Given the description of an element on the screen output the (x, y) to click on. 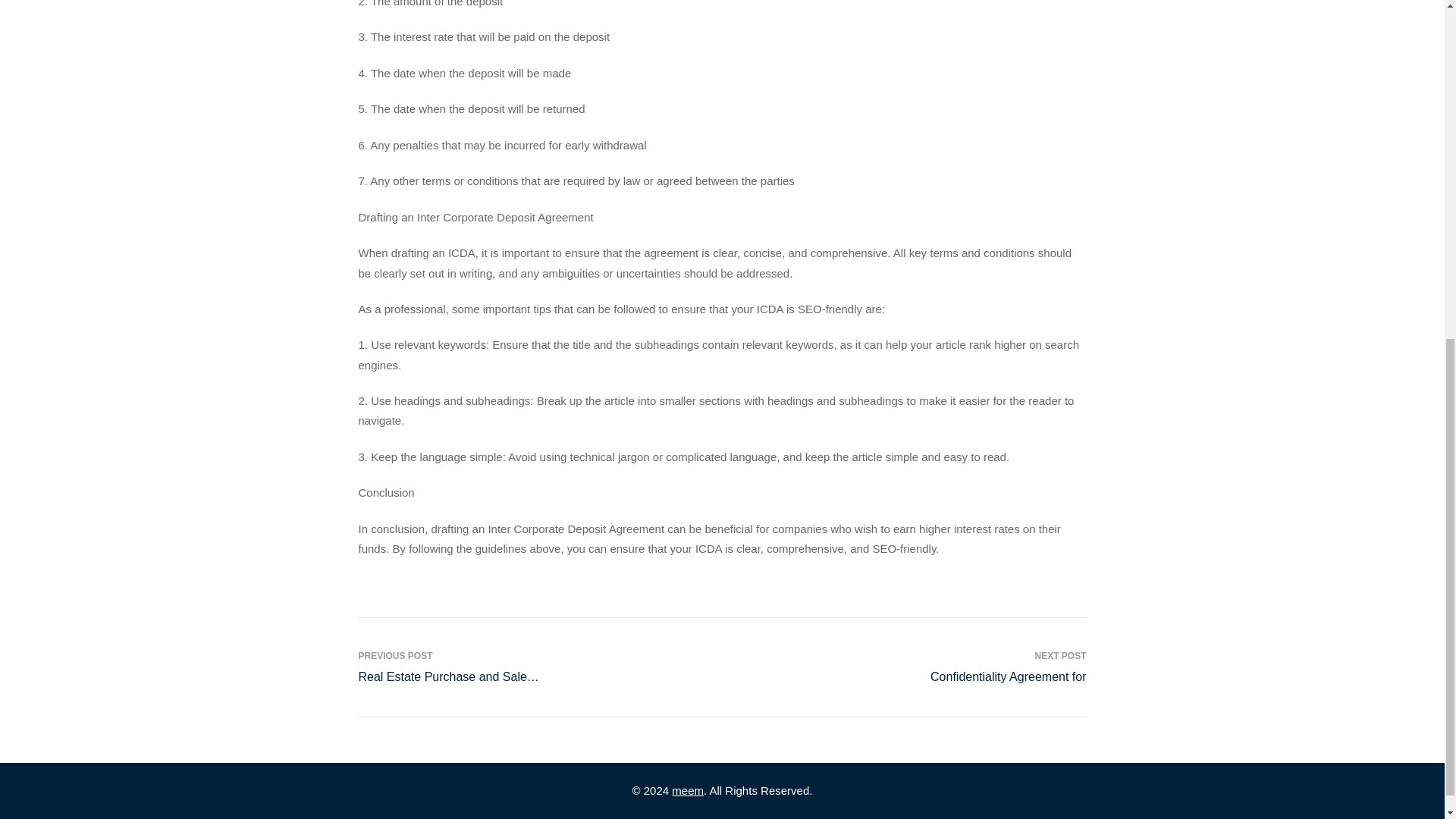
meem (987, 667)
